Given the description of an element on the screen output the (x, y) to click on. 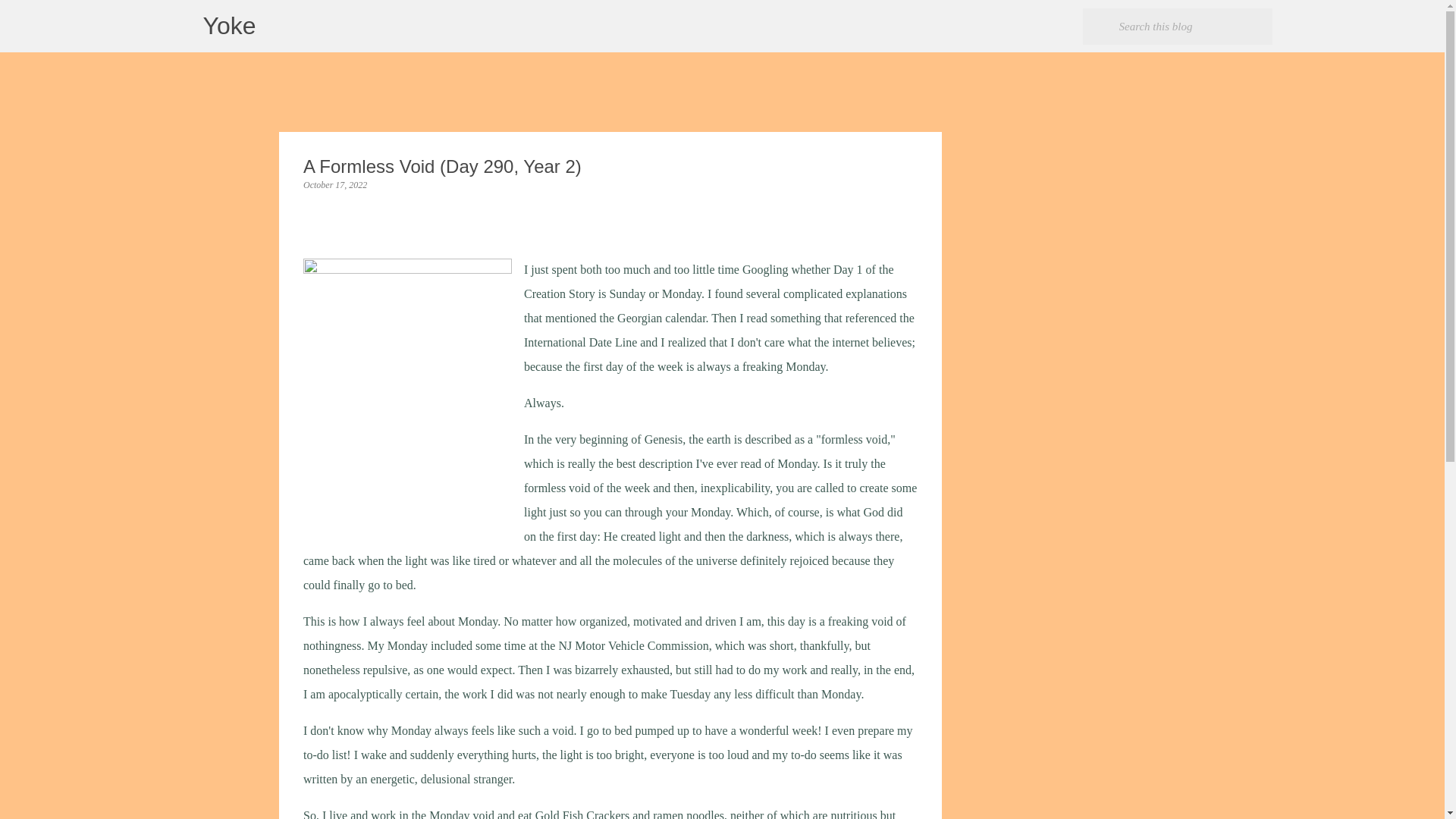
permanent link (334, 184)
October 17, 2022 (334, 184)
Yoke (229, 25)
